Given the description of an element on the screen output the (x, y) to click on. 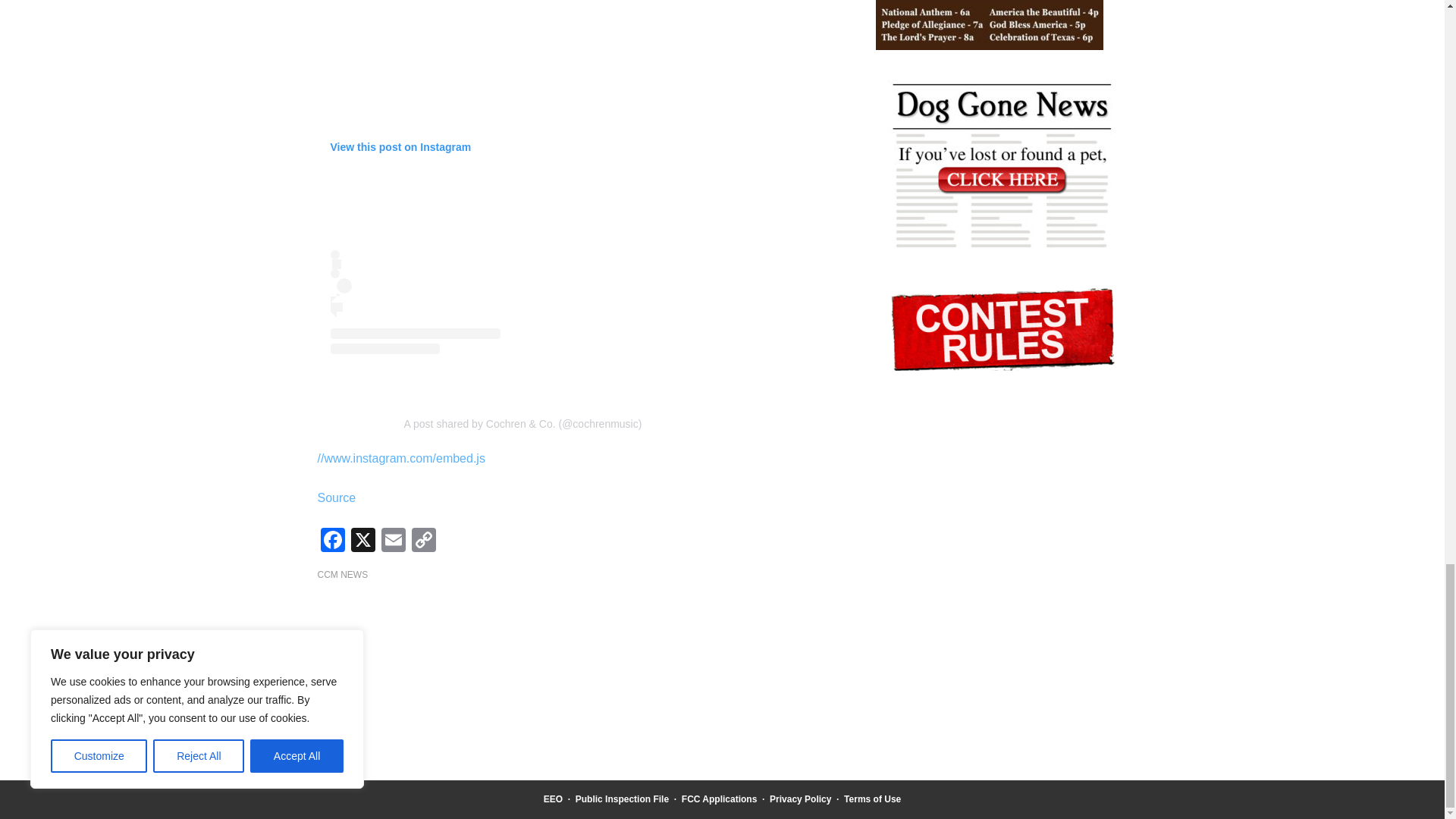
Email (392, 541)
Copy Link (422, 541)
CCM NEWS (342, 574)
Email (392, 541)
Facebook (332, 541)
Copy Link (422, 541)
X (362, 541)
X (362, 541)
Facebook (332, 541)
Source (336, 497)
